Given the description of an element on the screen output the (x, y) to click on. 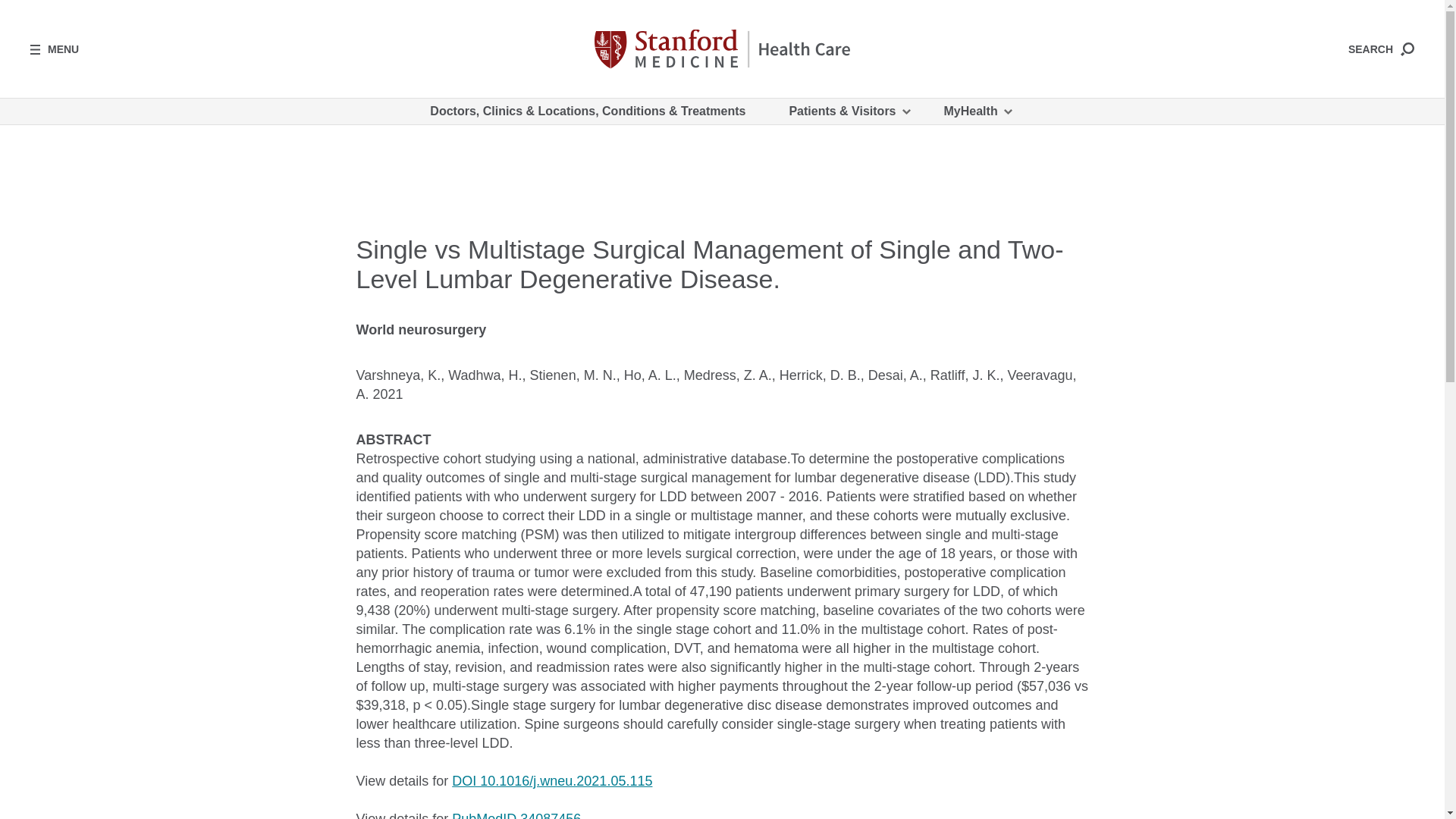
MENU (54, 49)
SEARCH (1380, 49)
MyHealth (976, 110)
